Given the description of an element on the screen output the (x, y) to click on. 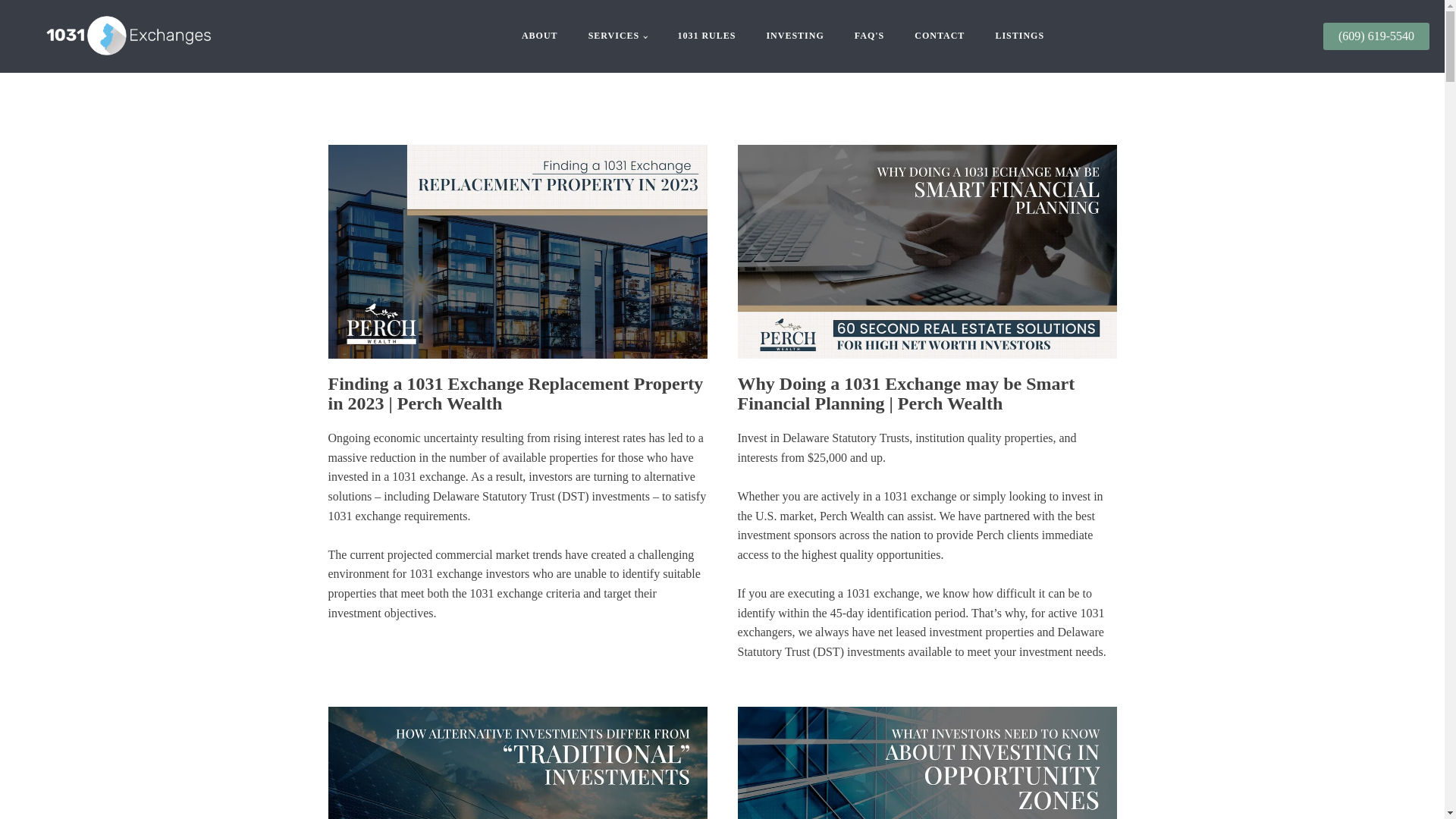
INVESTING (794, 35)
1031 RULES (706, 35)
CONTACT (939, 35)
FAQ'S (869, 35)
ABOUT (539, 35)
LISTINGS (1019, 35)
SERVICES (617, 35)
